Given the description of an element on the screen output the (x, y) to click on. 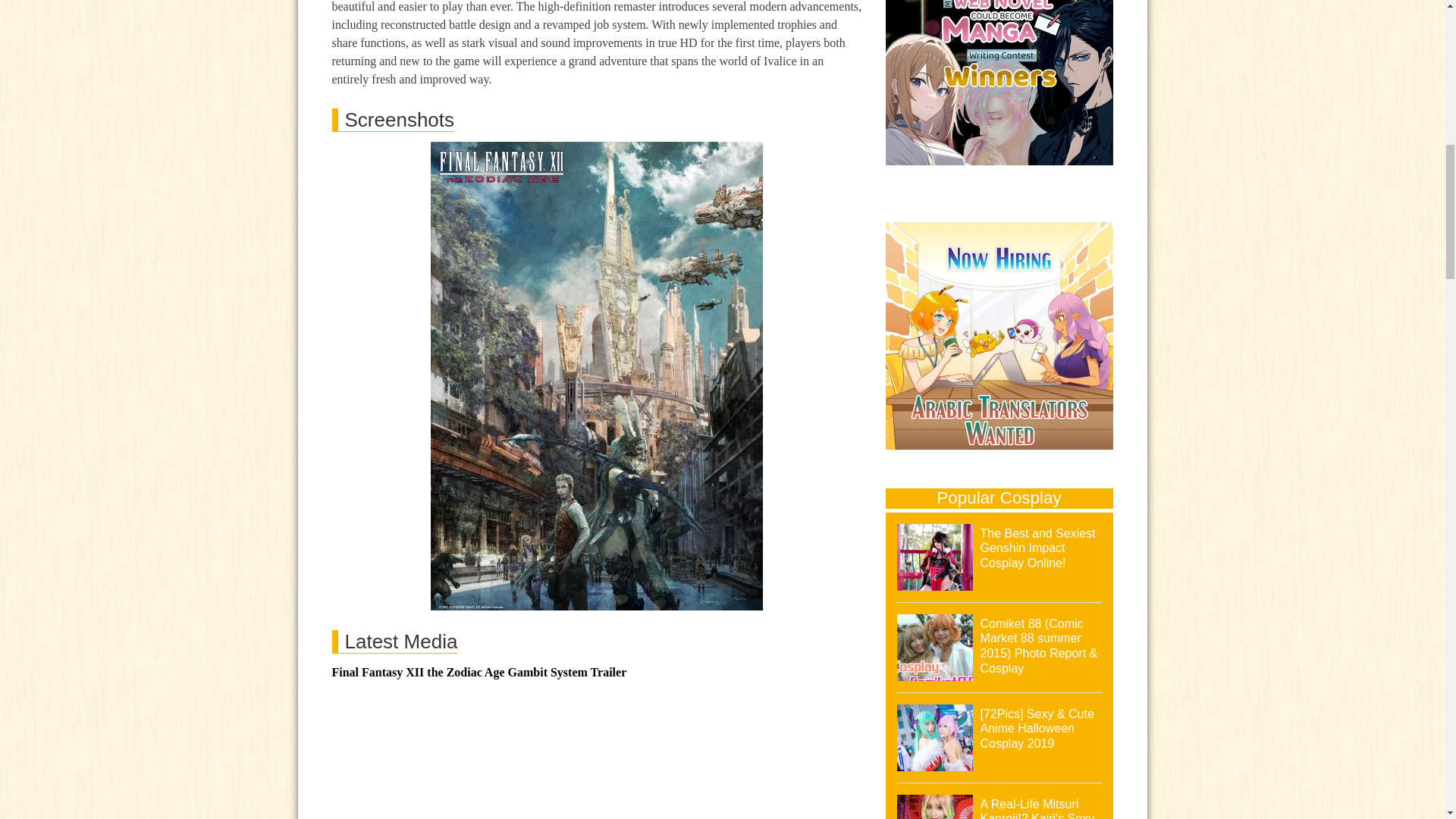
banner-honeyfeed-malcontest (999, 85)
The Best and Sexiest Genshin Impact Cosplay Online! (1036, 548)
